Given the description of an element on the screen output the (x, y) to click on. 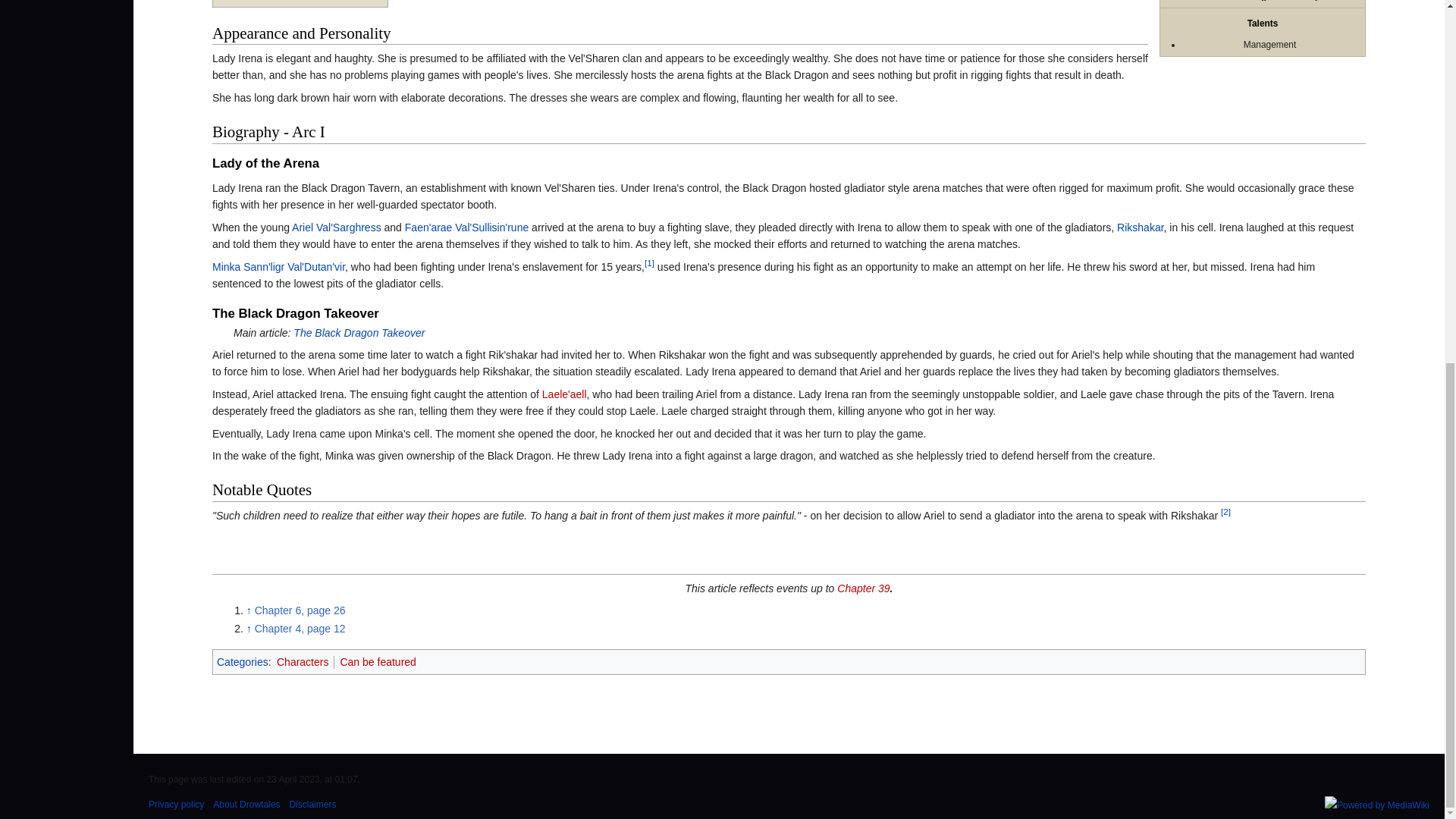
Ariel Val'Sarghress (336, 227)
The Black Dragon Takeover (359, 332)
The Black Dragon Takeover (359, 332)
Characters (302, 662)
Rikshakar (1139, 227)
Faen'arae Val'Sullisin'rune (466, 227)
Special:Categories (241, 662)
Rikshakar (1139, 227)
Minka Sann'ligr Val'Dutan'vir (278, 266)
Minka Sann'ligr Val'Dutan'vir (278, 266)
